Given the description of an element on the screen output the (x, y) to click on. 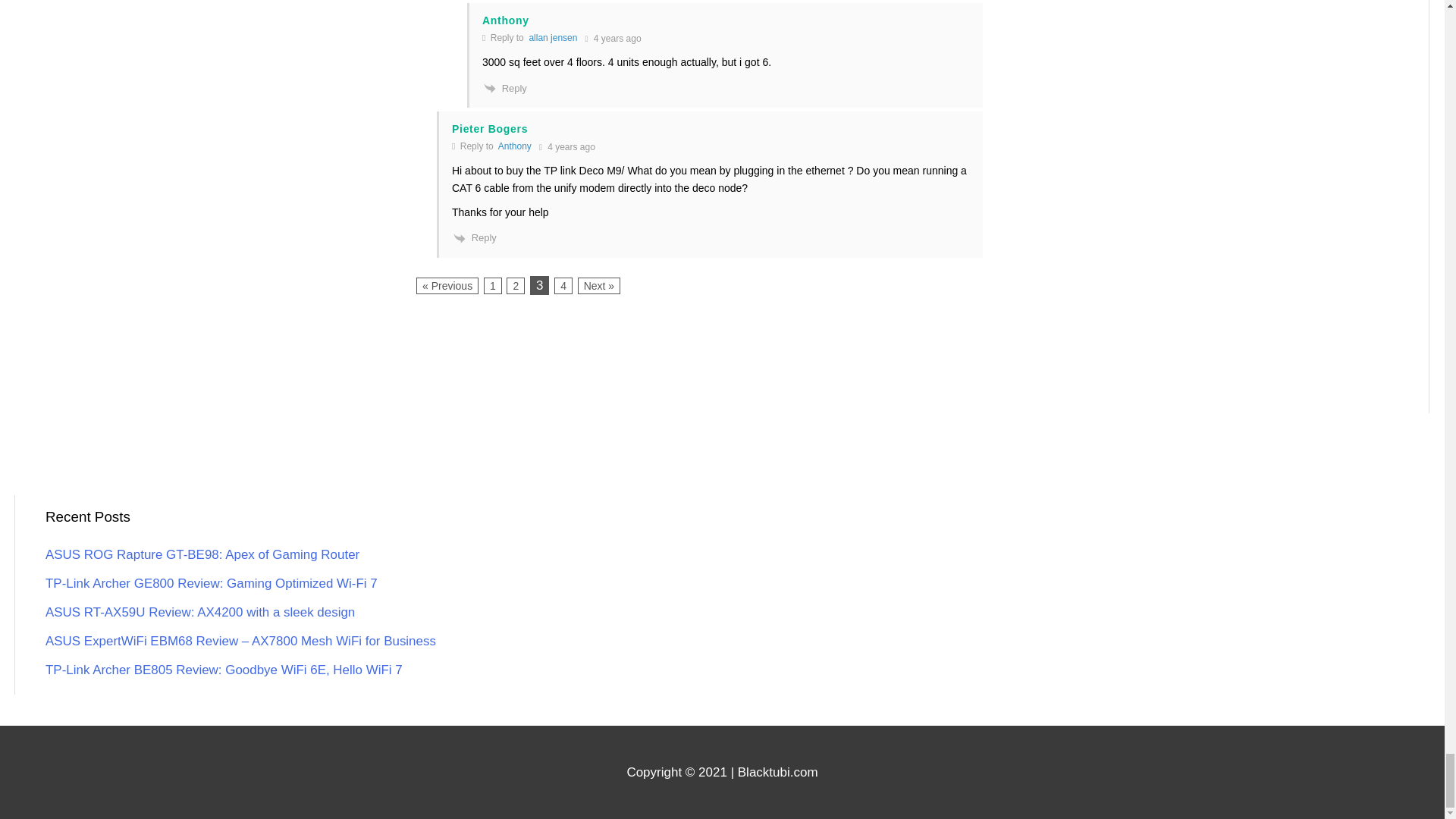
4 (563, 285)
ASUS ROG Rapture GT-BE98: Apex of Gaming Router (202, 554)
2 (515, 285)
Anthony (514, 145)
allan jensen (552, 37)
1 (492, 285)
